Given the description of an element on the screen output the (x, y) to click on. 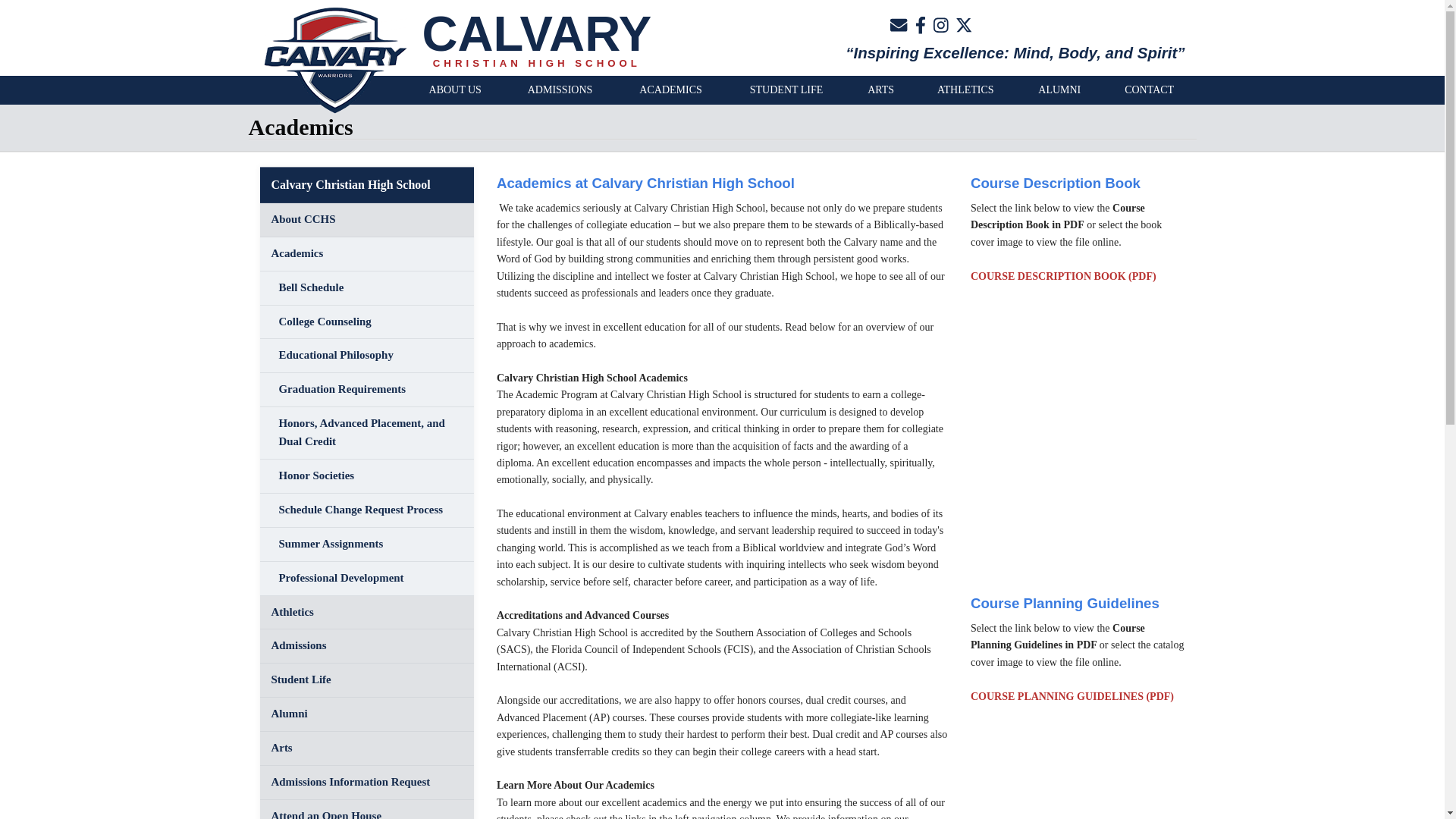
ADMISSIONS (559, 90)
Educational Philosophy (366, 356)
CALVARY (536, 33)
Honors, Advanced Placement, and Dual Credit (366, 433)
Alumni (366, 714)
ABOUT US (454, 90)
Bell Schedule (366, 288)
Academics (366, 254)
Admissions (366, 646)
College Counseling (366, 322)
